Given the description of an element on the screen output the (x, y) to click on. 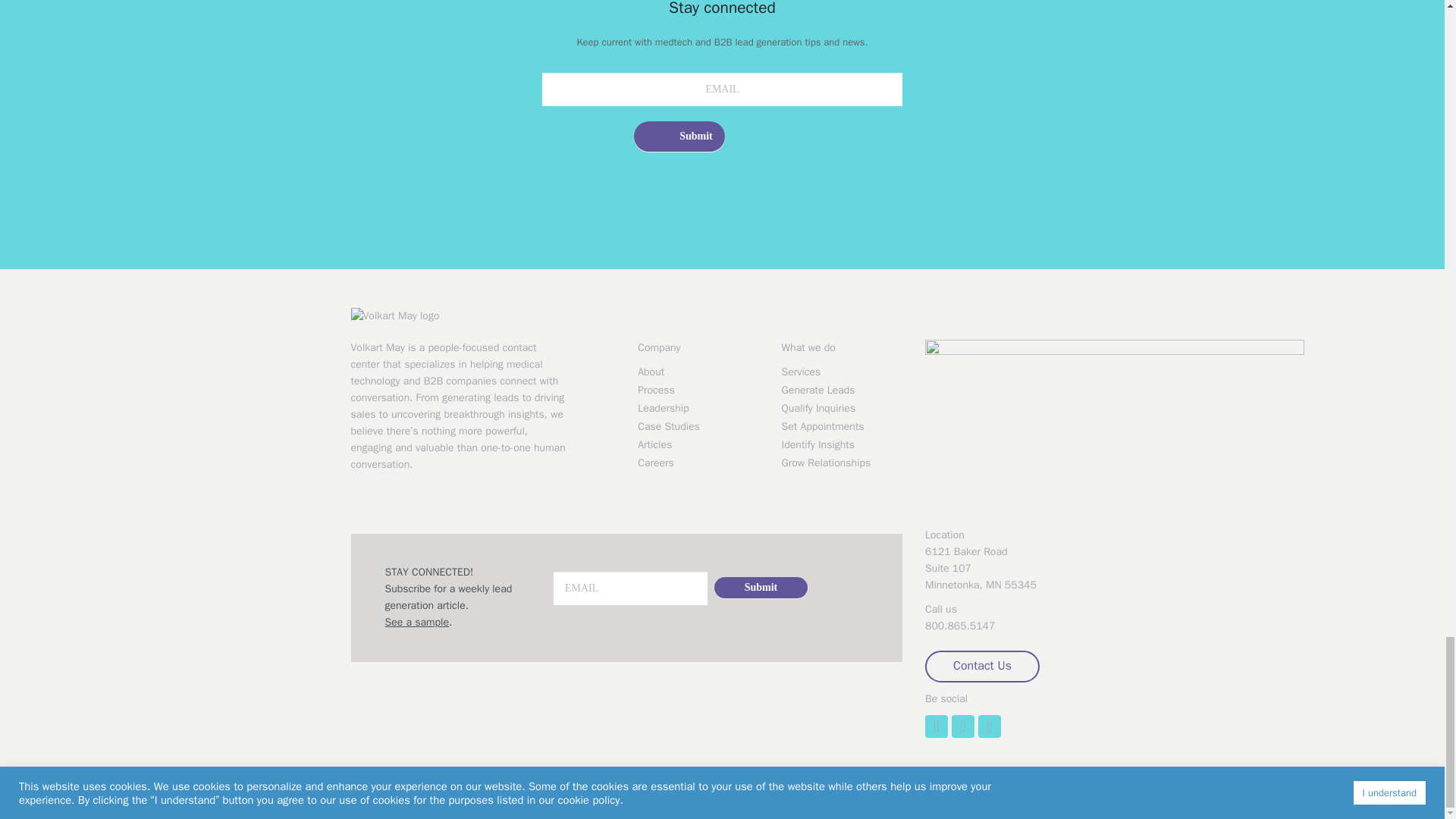
Twitter (963, 725)
About (697, 371)
Case Studies (697, 426)
Facebook (989, 725)
LinkedIn (935, 725)
Set Appointments (841, 426)
Generate Leads (841, 390)
Submit (679, 136)
Process (697, 390)
Careers (697, 463)
